Given the description of an element on the screen output the (x, y) to click on. 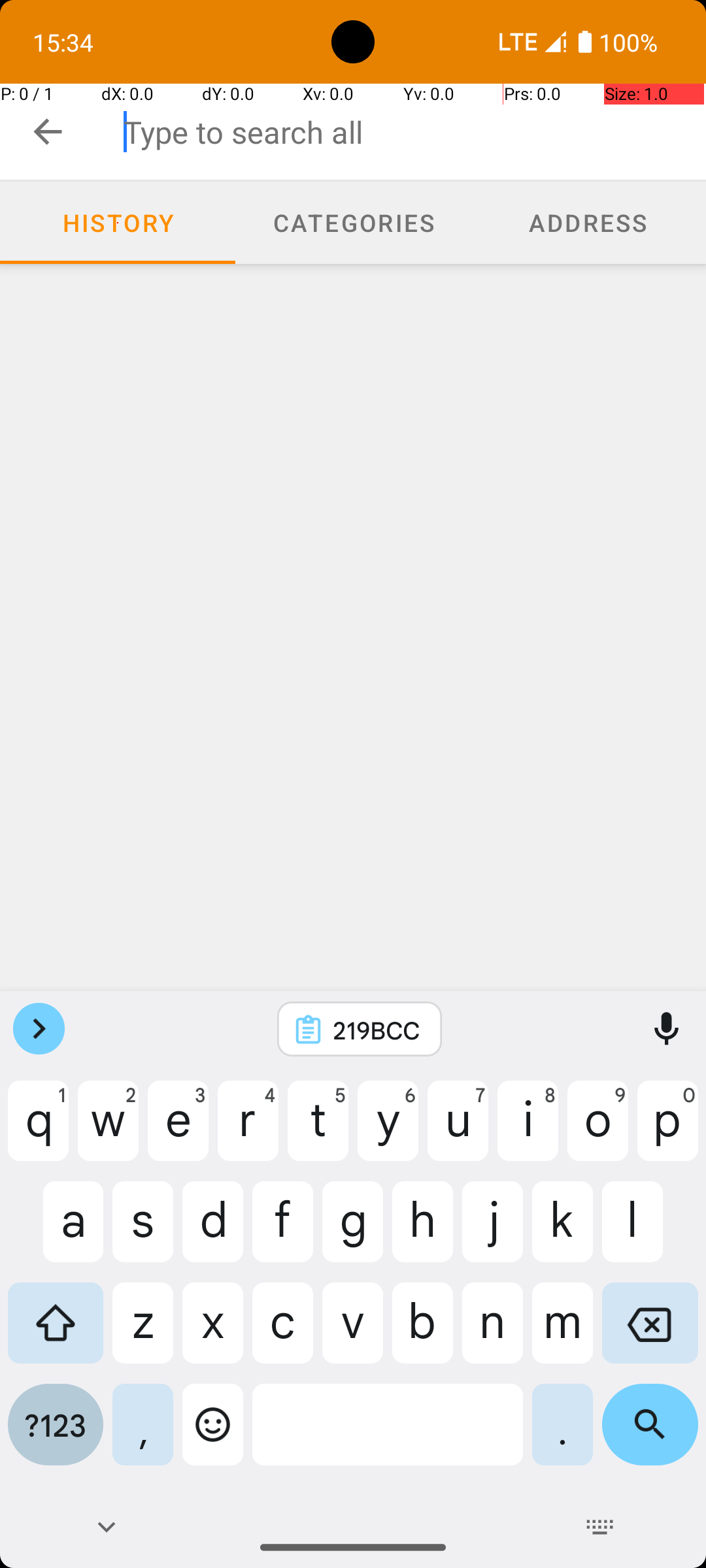
Type to search all Element type: android.widget.EditText (414, 131)
219BCC Element type: android.widget.TextView (376, 1029)
